Given the description of an element on the screen output the (x, y) to click on. 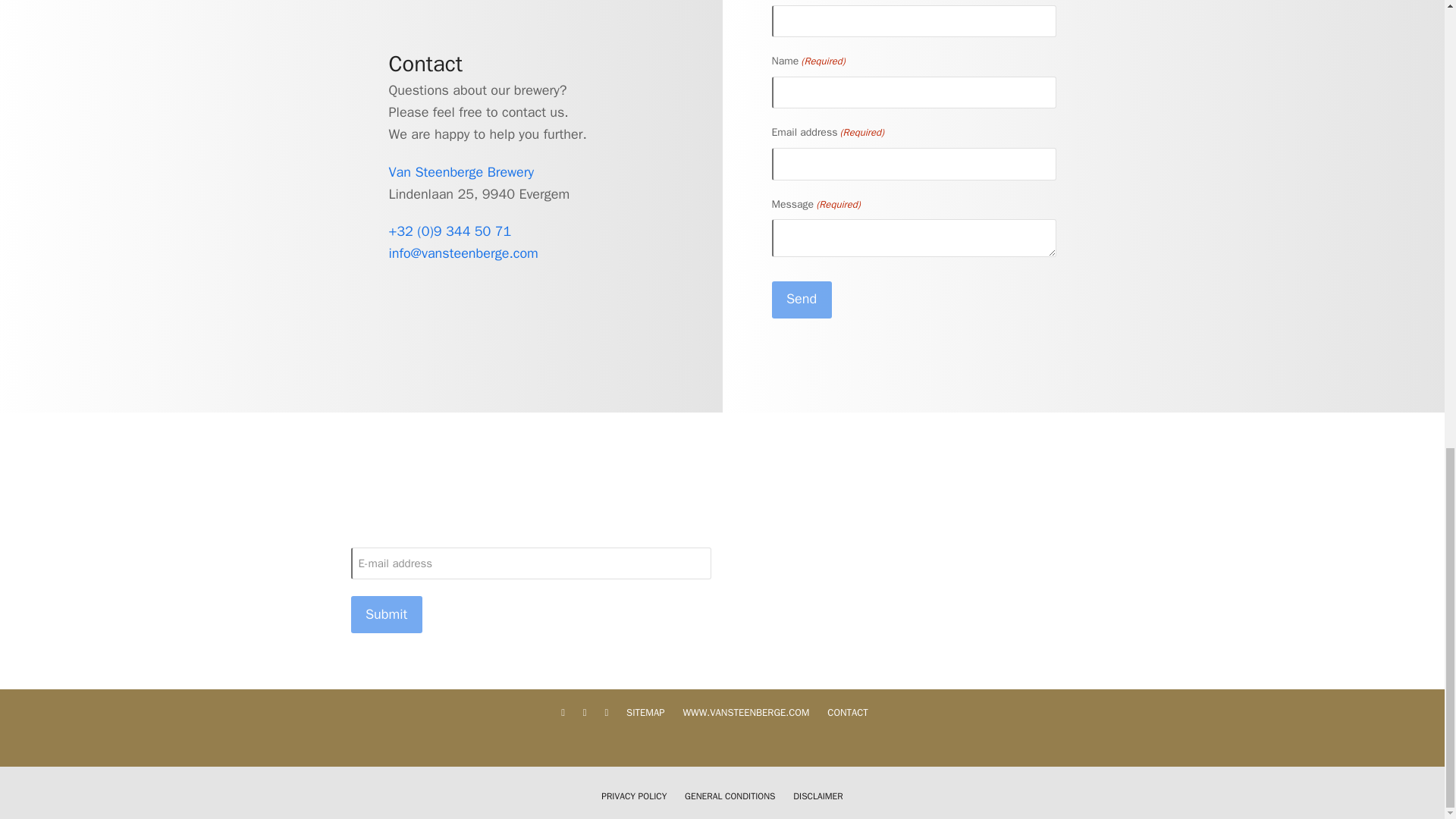
Submit (386, 614)
Submit (386, 614)
Van Steenberge Brewery (461, 171)
SITEMAP (644, 712)
WWW.VANSTEENBERGE.COM (745, 712)
Send (801, 299)
Send (801, 299)
